Given the description of an element on the screen output the (x, y) to click on. 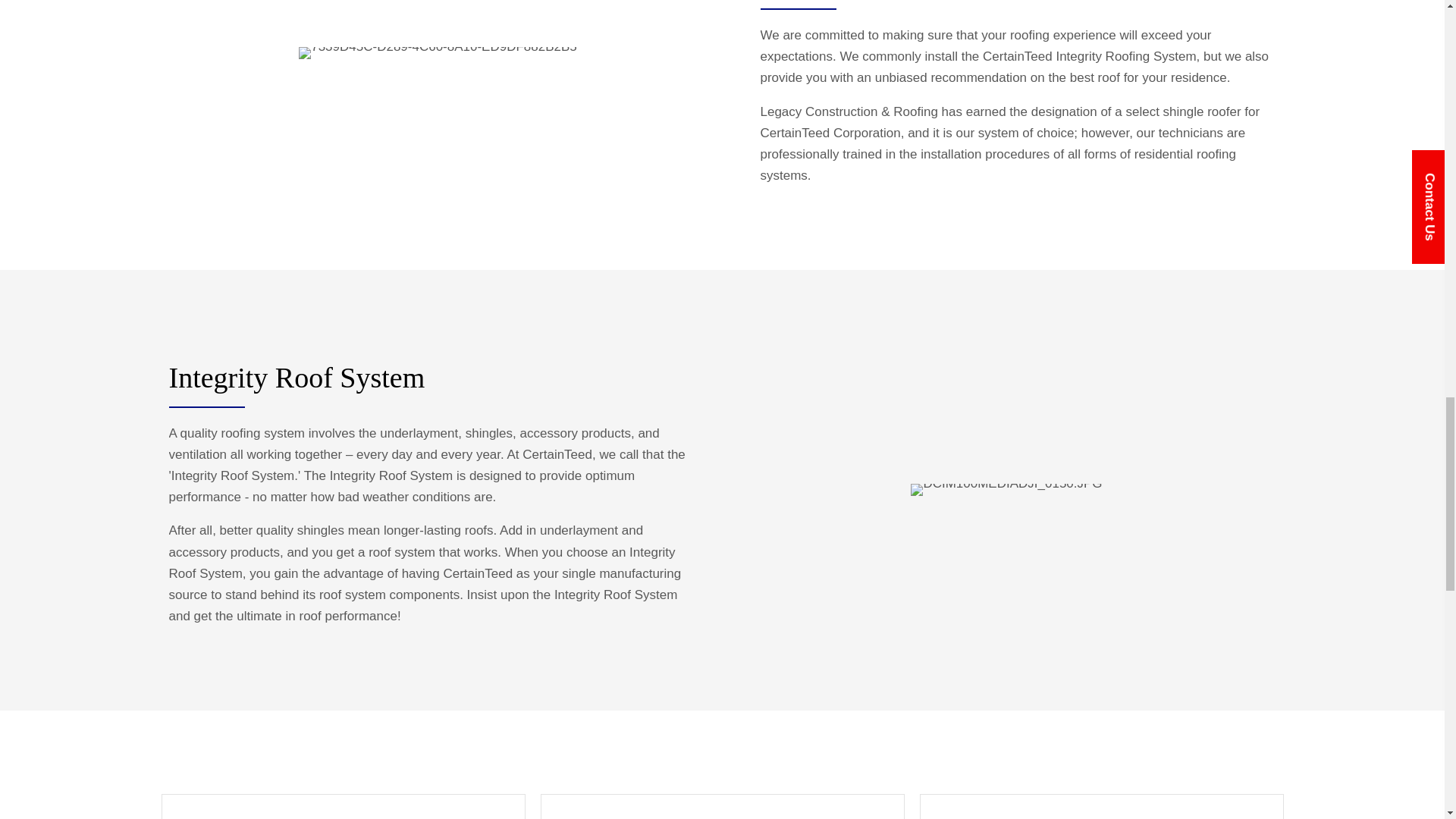
7339D45C-D289-4C60-8A10-ED9DF882B2B5 (437, 52)
